Given the description of an element on the screen output the (x, y) to click on. 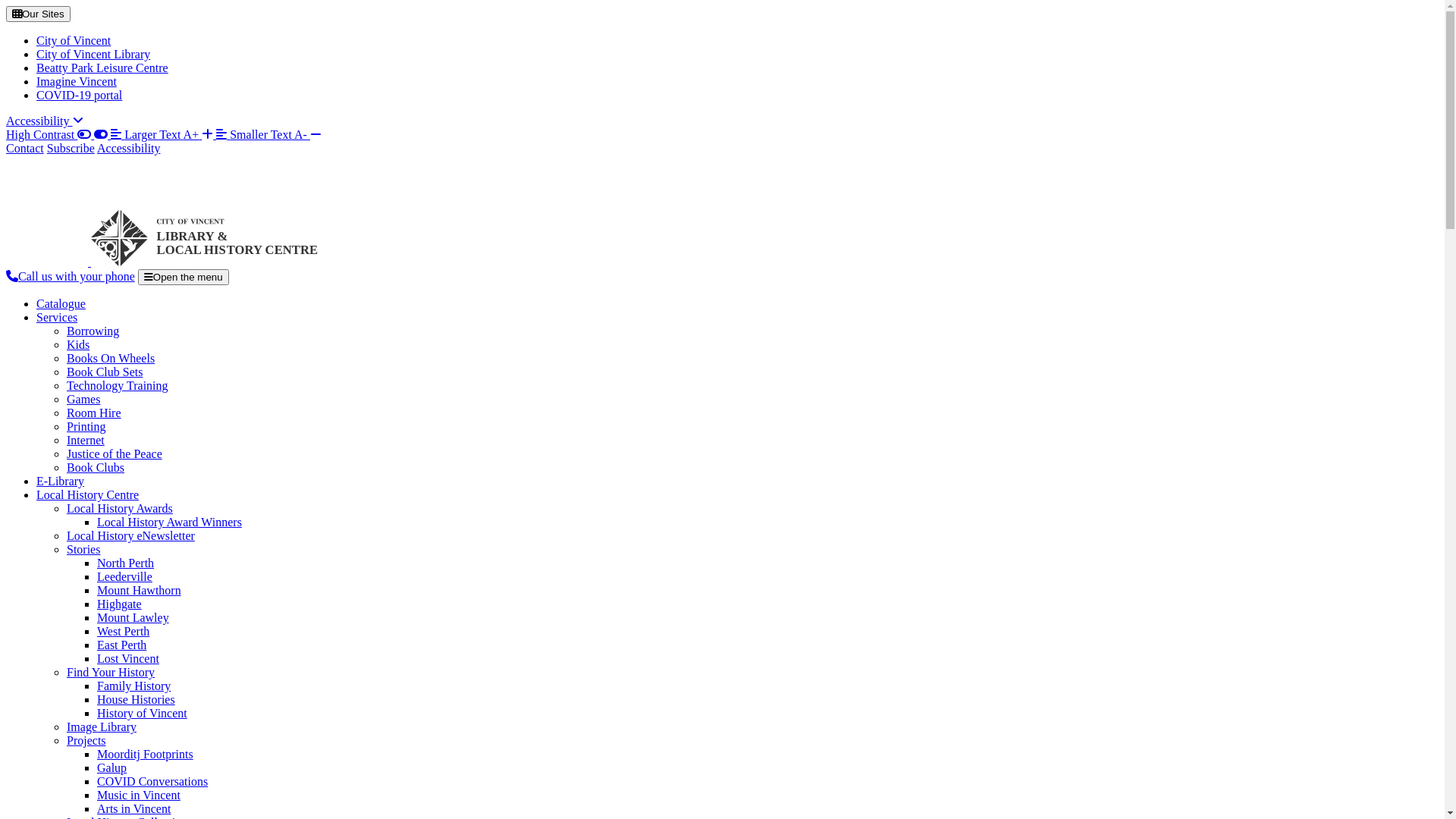
Music in Vincent Element type: text (138, 794)
Borrowing Element type: text (92, 330)
Technology Training Element type: text (117, 385)
Mount Lawley Element type: text (133, 617)
Call us with your phone Element type: text (70, 275)
Contact Element type: text (24, 147)
City of Vincent Element type: text (73, 40)
Family History Element type: text (133, 685)
E-Library Element type: text (60, 480)
Accessibility Element type: text (128, 147)
Lost Vincent Element type: text (128, 658)
COVID Conversations Element type: text (152, 781)
Book Club Sets Element type: text (104, 371)
Stories Element type: text (83, 548)
West Perth Element type: text (123, 630)
Larger Text A+ Element type: text (163, 134)
Open the menu Element type: text (183, 277)
Highgate Element type: text (119, 603)
Find Your History Element type: text (110, 671)
Local History Award Winners Element type: text (169, 521)
Internet Element type: text (85, 439)
Beatty Park Leisure Centre Element type: text (102, 67)
Subscribe Element type: text (70, 147)
Galup Element type: text (111, 767)
Kids Element type: text (77, 344)
Accessibility Element type: text (44, 120)
Arts in Vincent Element type: text (133, 808)
Books On Wheels Element type: text (110, 357)
Moorditj Footprints Element type: text (145, 753)
Room Hire Element type: text (93, 412)
Imagine Vincent Element type: text (76, 81)
Mount Hawthorn Element type: text (139, 589)
Projects Element type: text (86, 740)
High Contrast Element type: text (58, 134)
Image Library Element type: text (101, 726)
House Histories Element type: text (136, 699)
Our Sites Element type: text (38, 13)
Leederville Element type: text (124, 576)
East Perth Element type: text (121, 644)
City of Vincent Element type: hover (162, 261)
North Perth Element type: text (125, 562)
Games Element type: text (83, 398)
Justice of the Peace Element type: text (114, 453)
Book Clubs Element type: text (95, 467)
Catalogue Element type: text (60, 303)
Smaller Text A- Element type: text (268, 134)
Local History Centre Element type: text (87, 494)
Local History eNewsletter Element type: text (130, 535)
Local History Awards Element type: text (119, 508)
History of Vincent Element type: text (142, 712)
COVID-19 portal Element type: text (79, 94)
Printing Element type: text (86, 426)
Services Element type: text (56, 316)
City of Vincent Library Element type: text (93, 53)
